Given the description of an element on the screen output the (x, y) to click on. 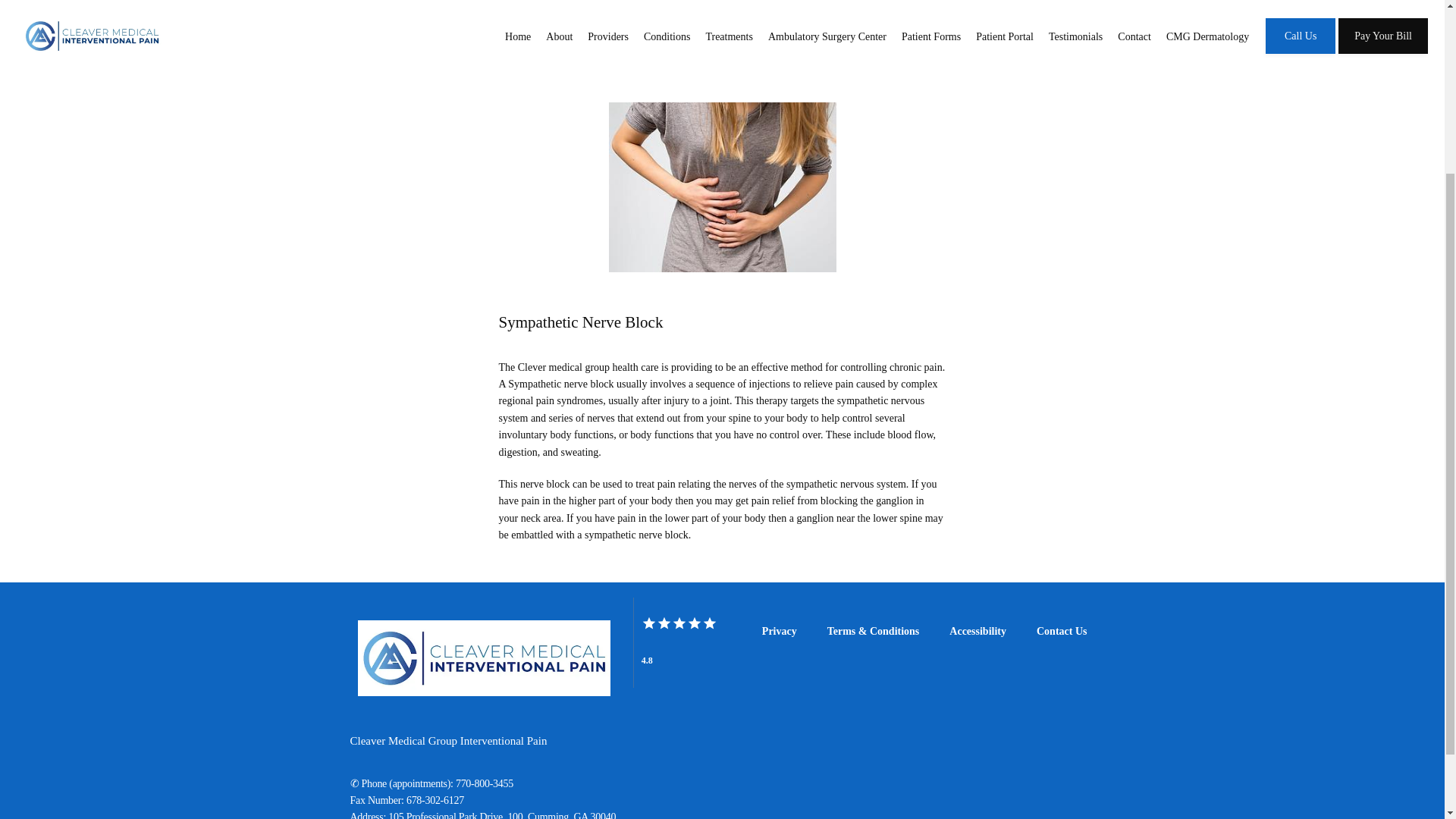
Accessibility (977, 631)
Privacy (778, 631)
Contact Us (1061, 631)
